Given the description of an element on the screen output the (x, y) to click on. 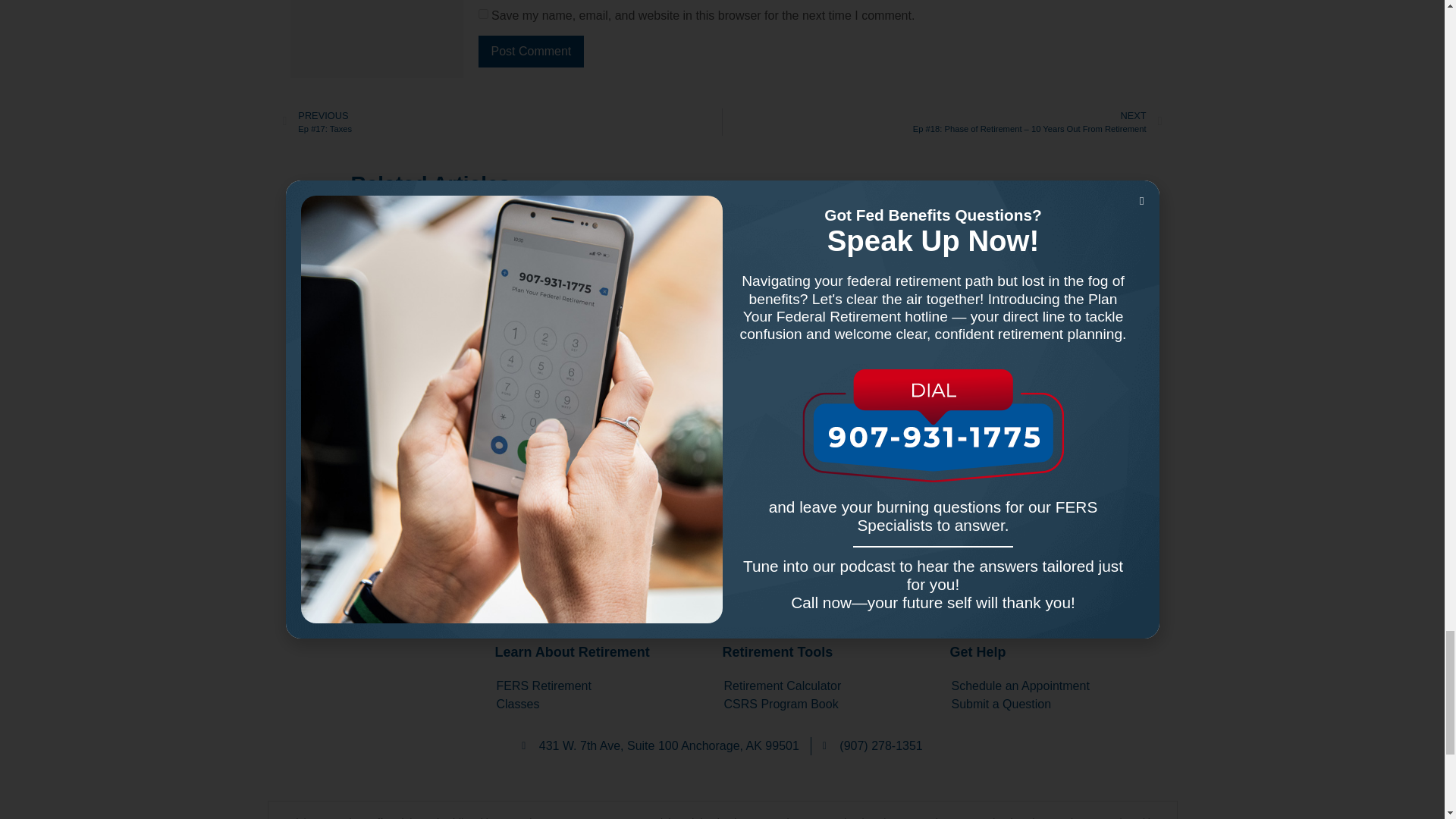
yes (482, 13)
Post Comment (530, 51)
